Given the description of an element on the screen output the (x, y) to click on. 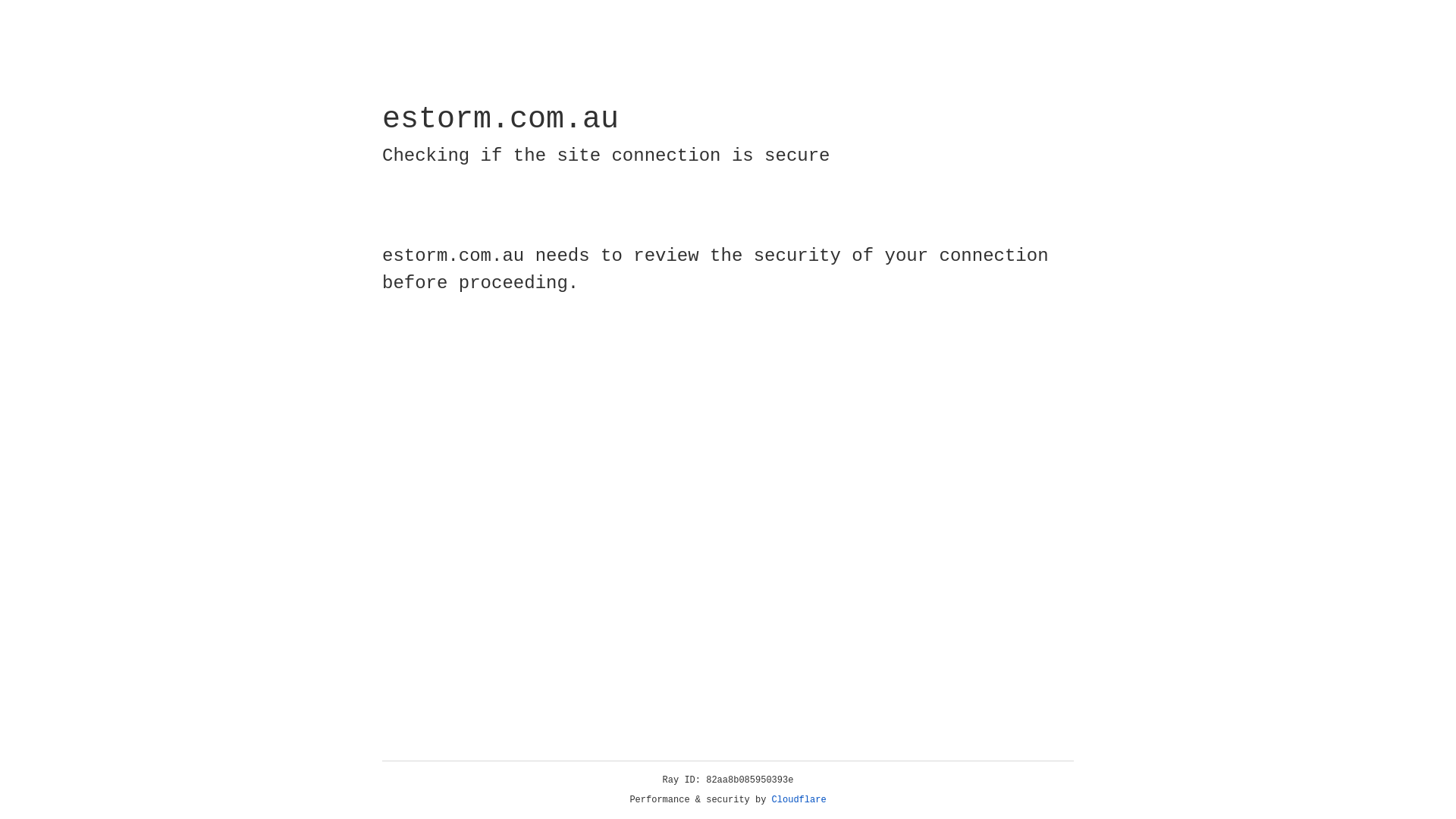
Cloudflare Element type: text (798, 799)
